Given the description of an element on the screen output the (x, y) to click on. 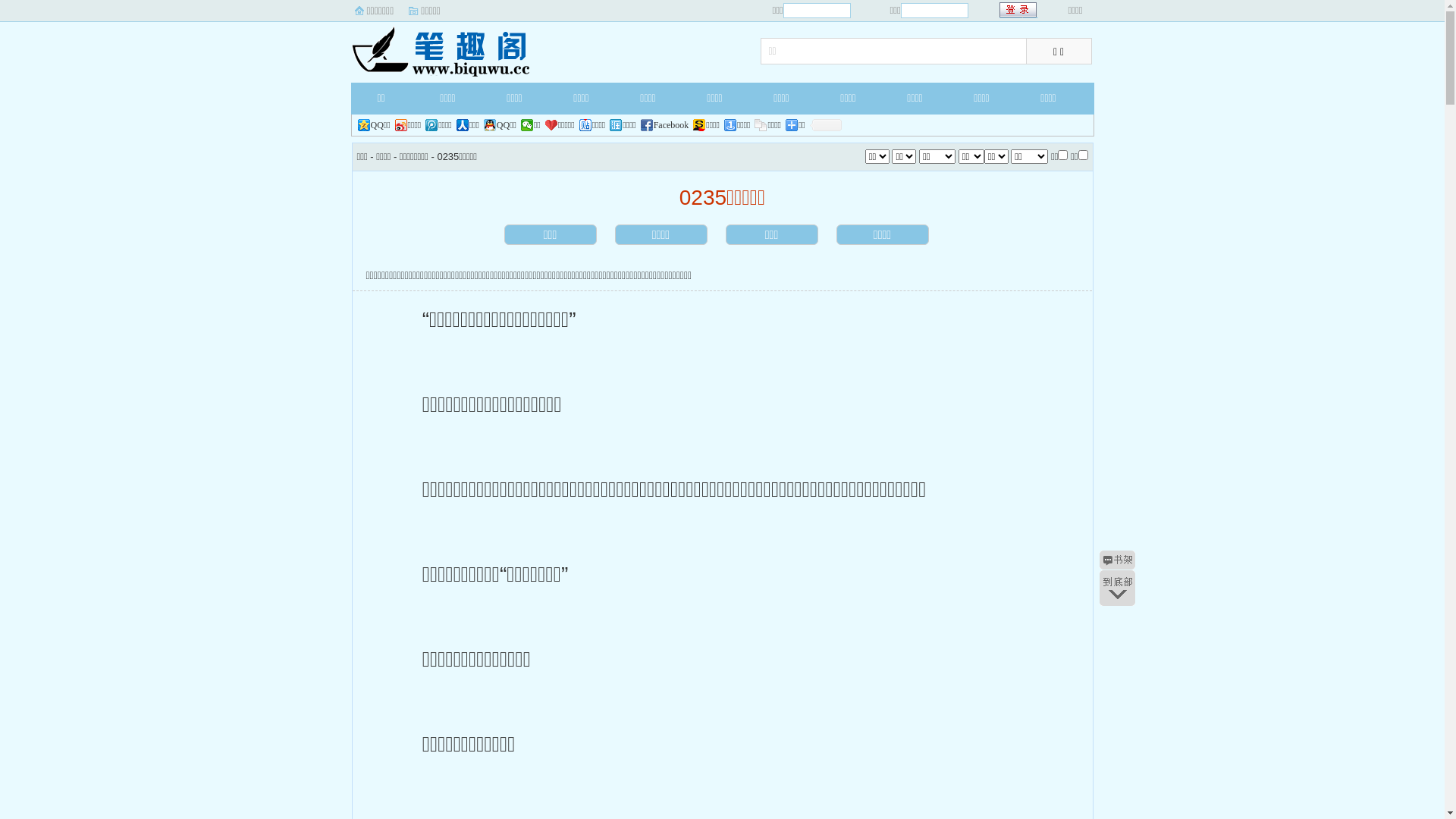
Facebook Element type: text (664, 125)
